Given the description of an element on the screen output the (x, y) to click on. 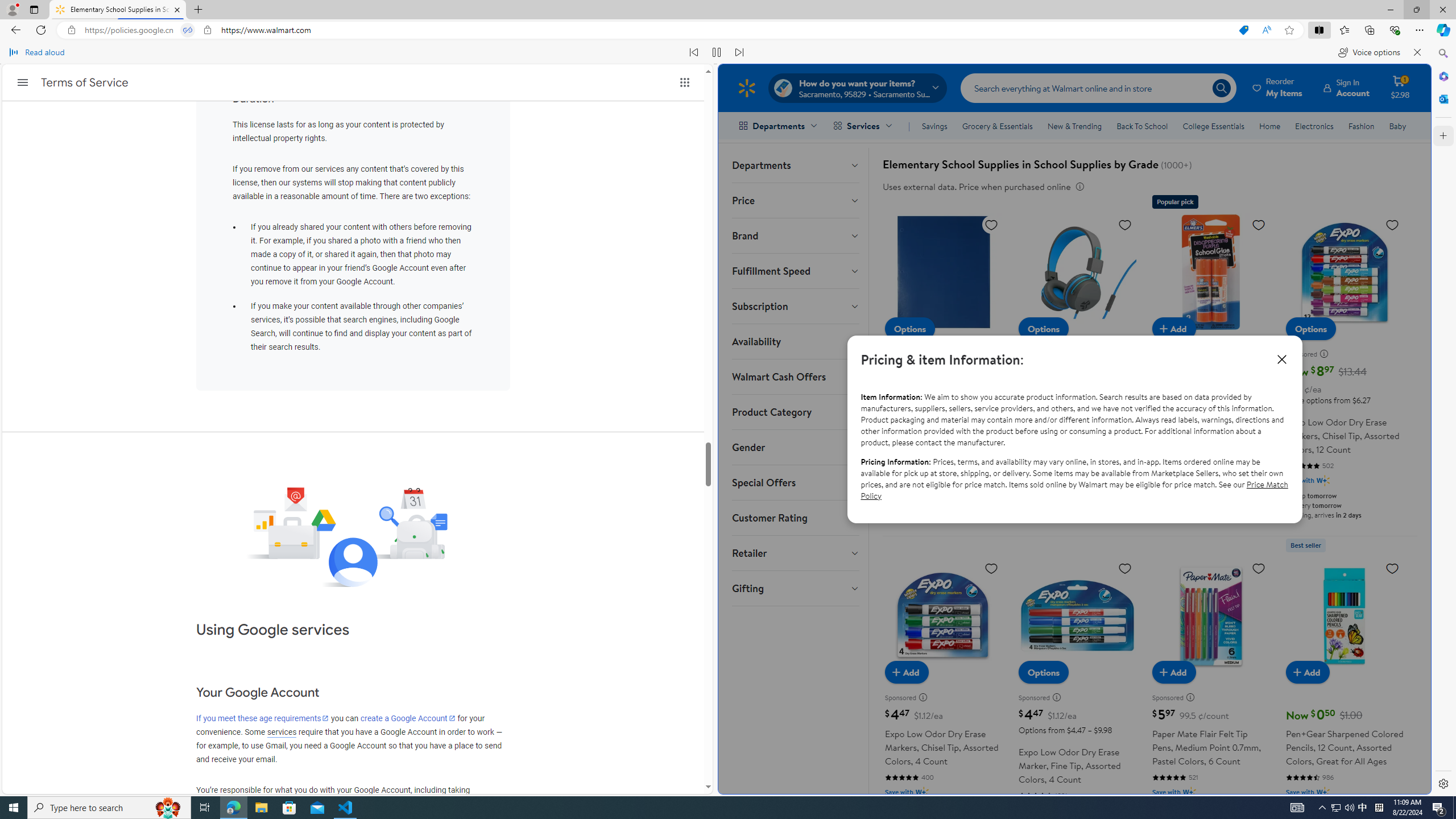
Read previous paragraph (693, 52)
Close Search pane (1442, 53)
Close dialog (1280, 359)
This site has coupons! Shopping in Microsoft Edge, 7 (1243, 29)
Read next paragraph (739, 52)
Price Match Policy (1074, 489)
